Given the description of an element on the screen output the (x, y) to click on. 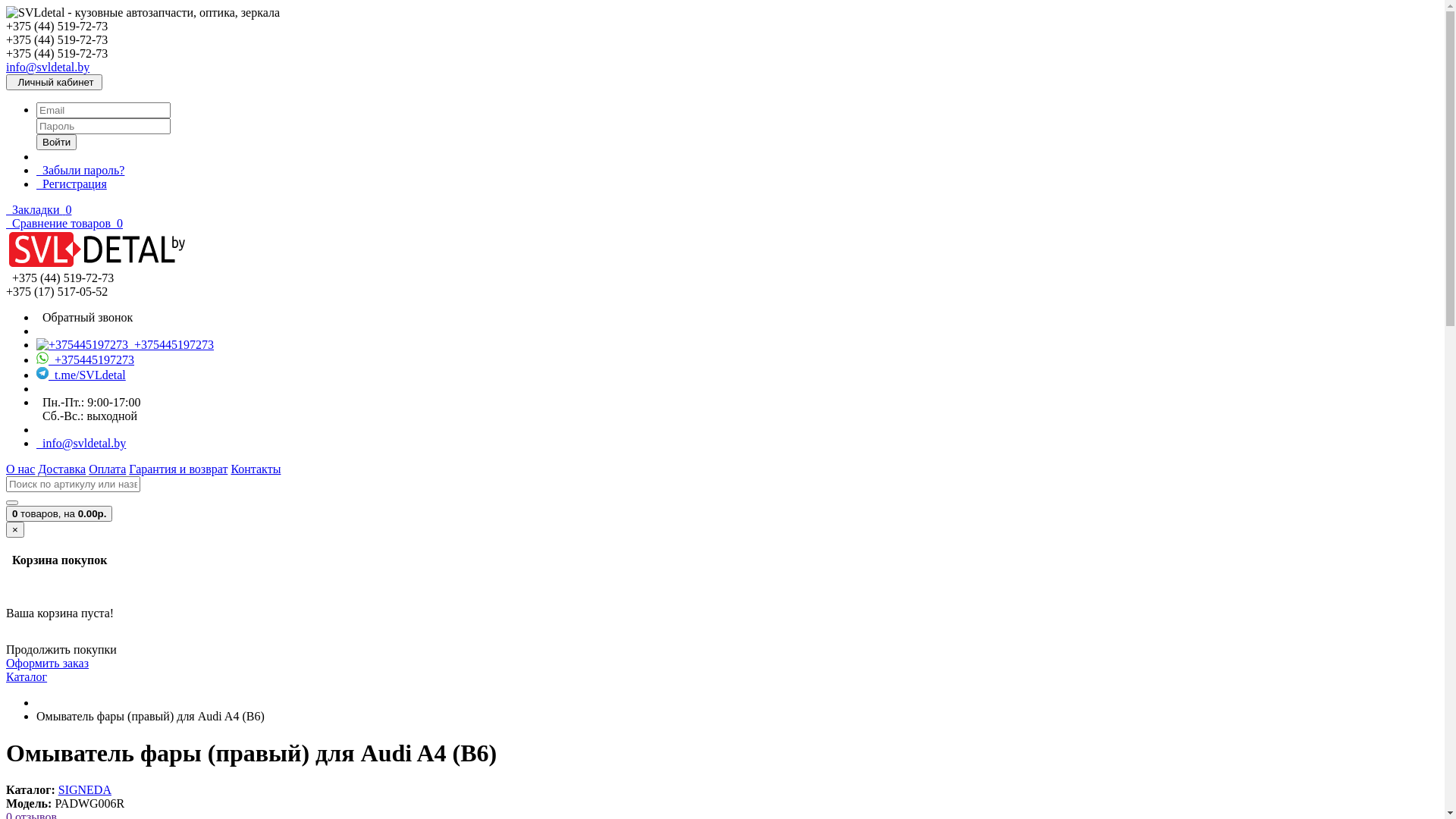
  t.me/SVLdetal Element type: text (80, 374)
SIGNEDA Element type: text (84, 789)
  +375445197273 Element type: text (85, 359)
  info@svldetal.by Element type: text (80, 442)
info@svldetal.by Element type: text (47, 66)
  +375445197273 Element type: text (124, 344)
